Given the description of an element on the screen output the (x, y) to click on. 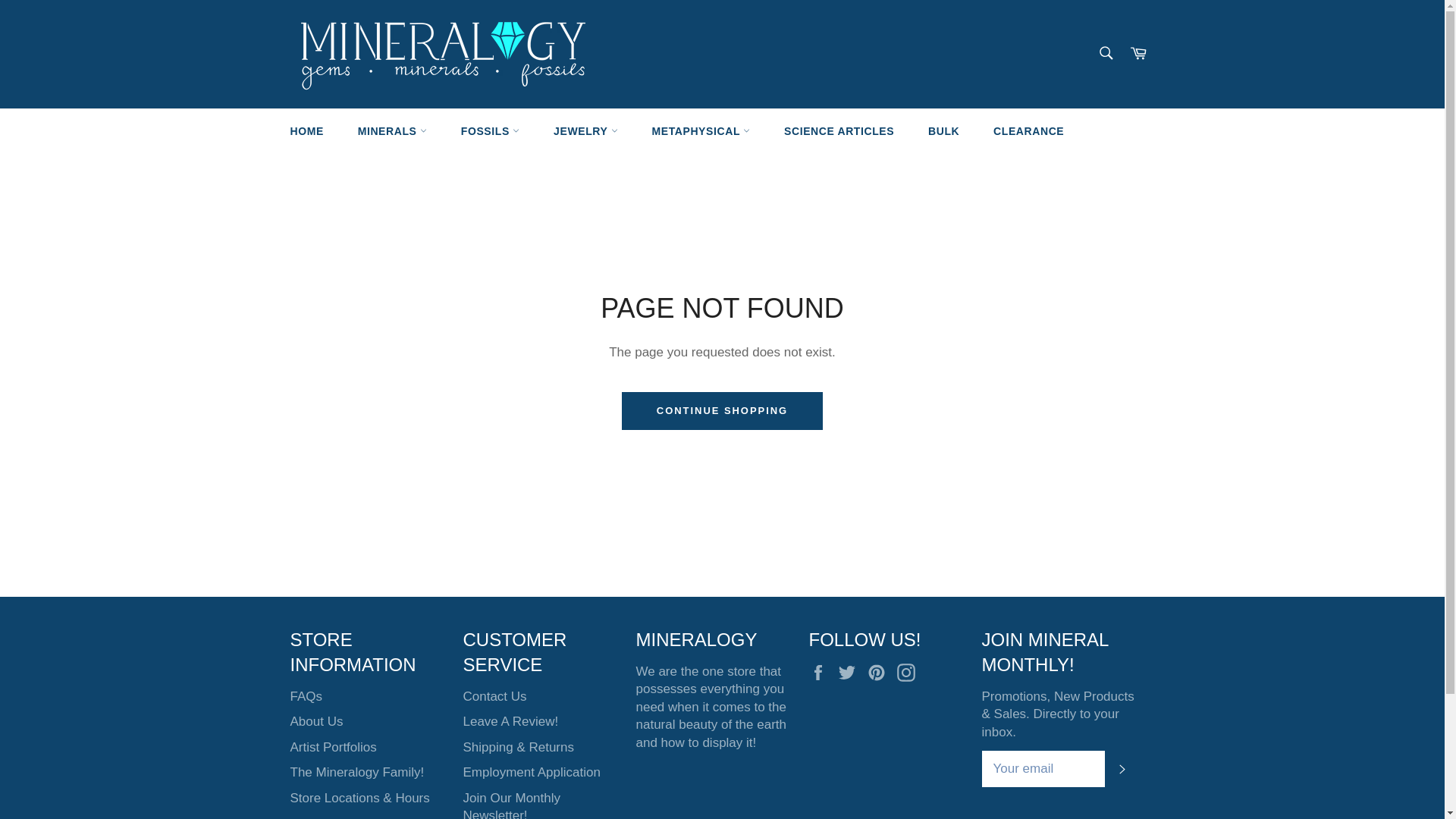
Mineralogy on Facebook (821, 671)
Mineralogy on Pinterest (880, 671)
Mineralogy on Twitter (850, 671)
Mineralogy on Instagram (909, 671)
